Given the description of an element on the screen output the (x, y) to click on. 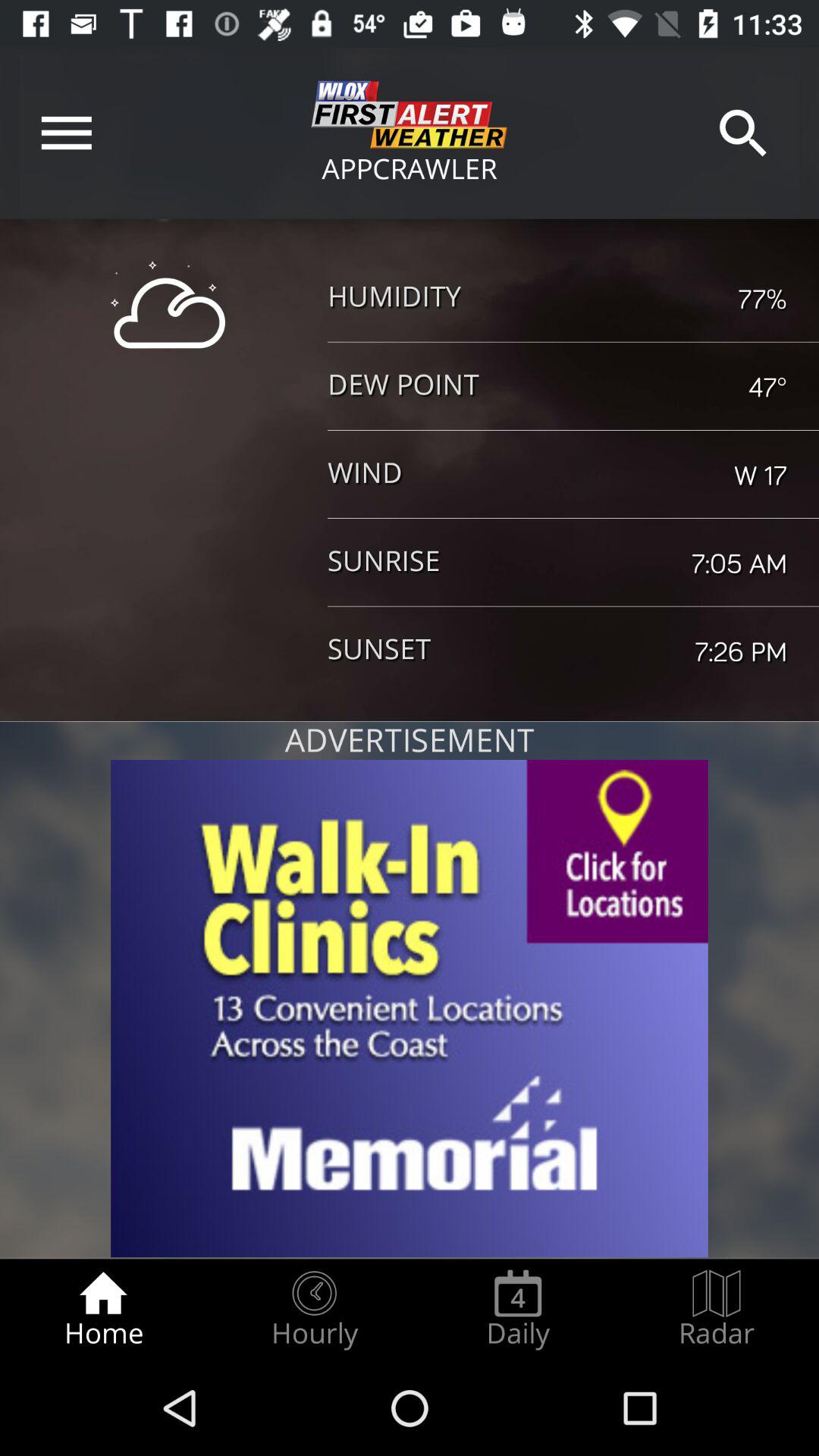
open a advertisement (409, 1008)
